Given the description of an element on the screen output the (x, y) to click on. 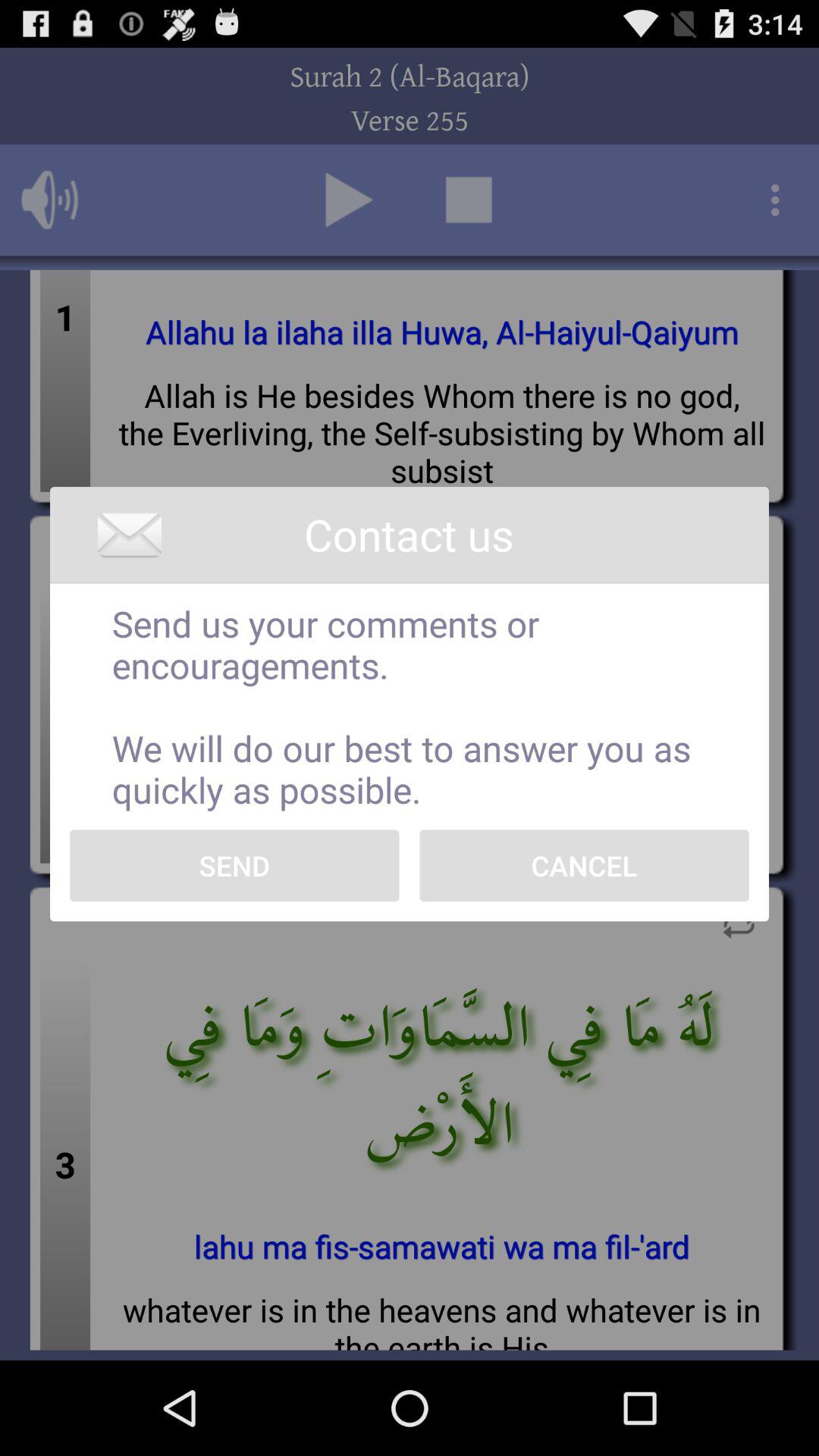
select item below send us your icon (584, 865)
